Given the description of an element on the screen output the (x, y) to click on. 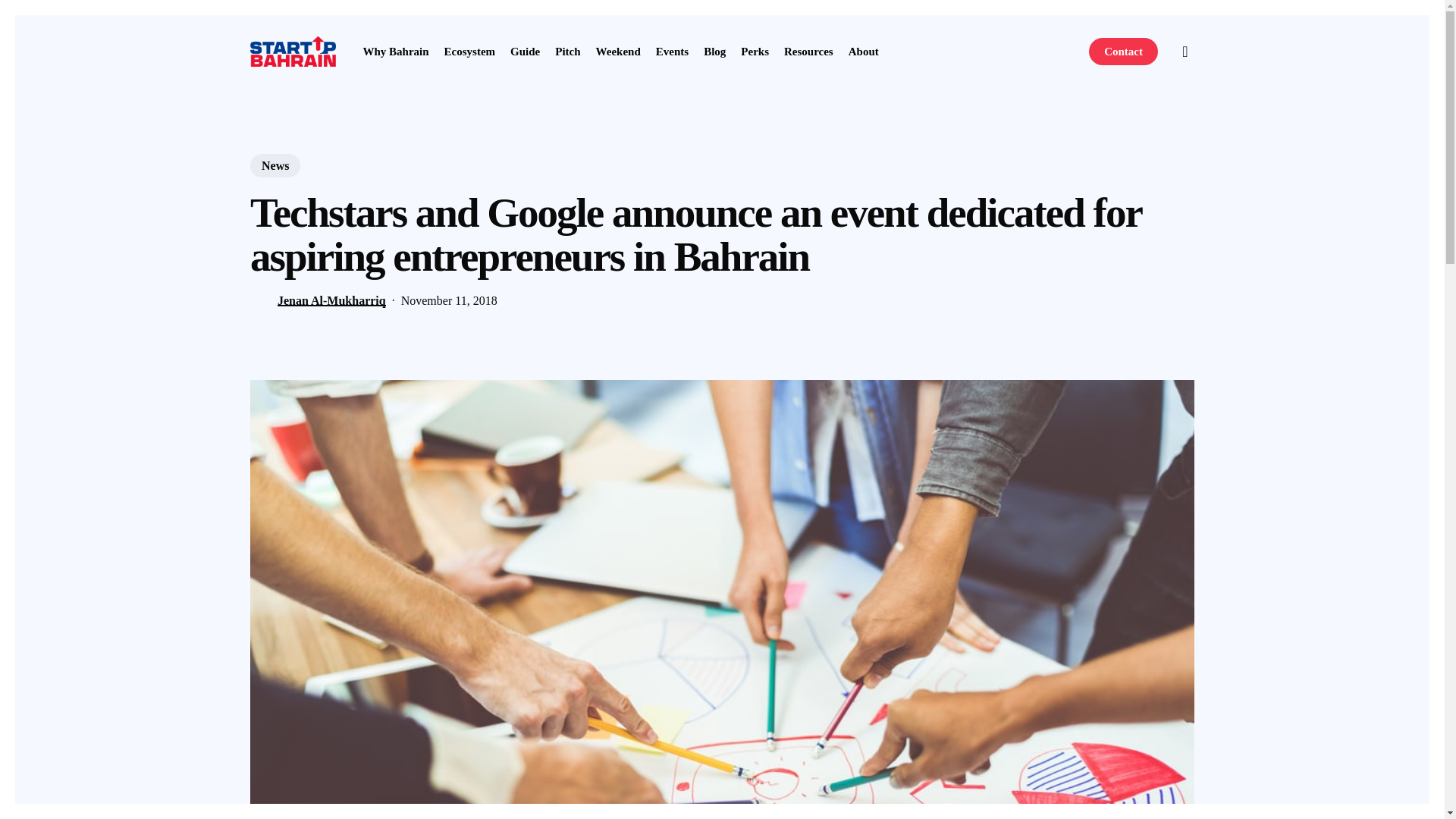
Perks (754, 50)
Weekend (617, 50)
Why Bahrain (395, 50)
Blog (714, 50)
Ecosystem (469, 50)
About (863, 50)
News (274, 165)
Posts by Jenan Al-Mukharriq (331, 300)
Events (671, 50)
Jenan Al-Mukharriq (331, 300)
Pitch (567, 50)
search (1184, 51)
Resources (808, 50)
Contact (1123, 50)
Guide (524, 50)
